Given the description of an element on the screen output the (x, y) to click on. 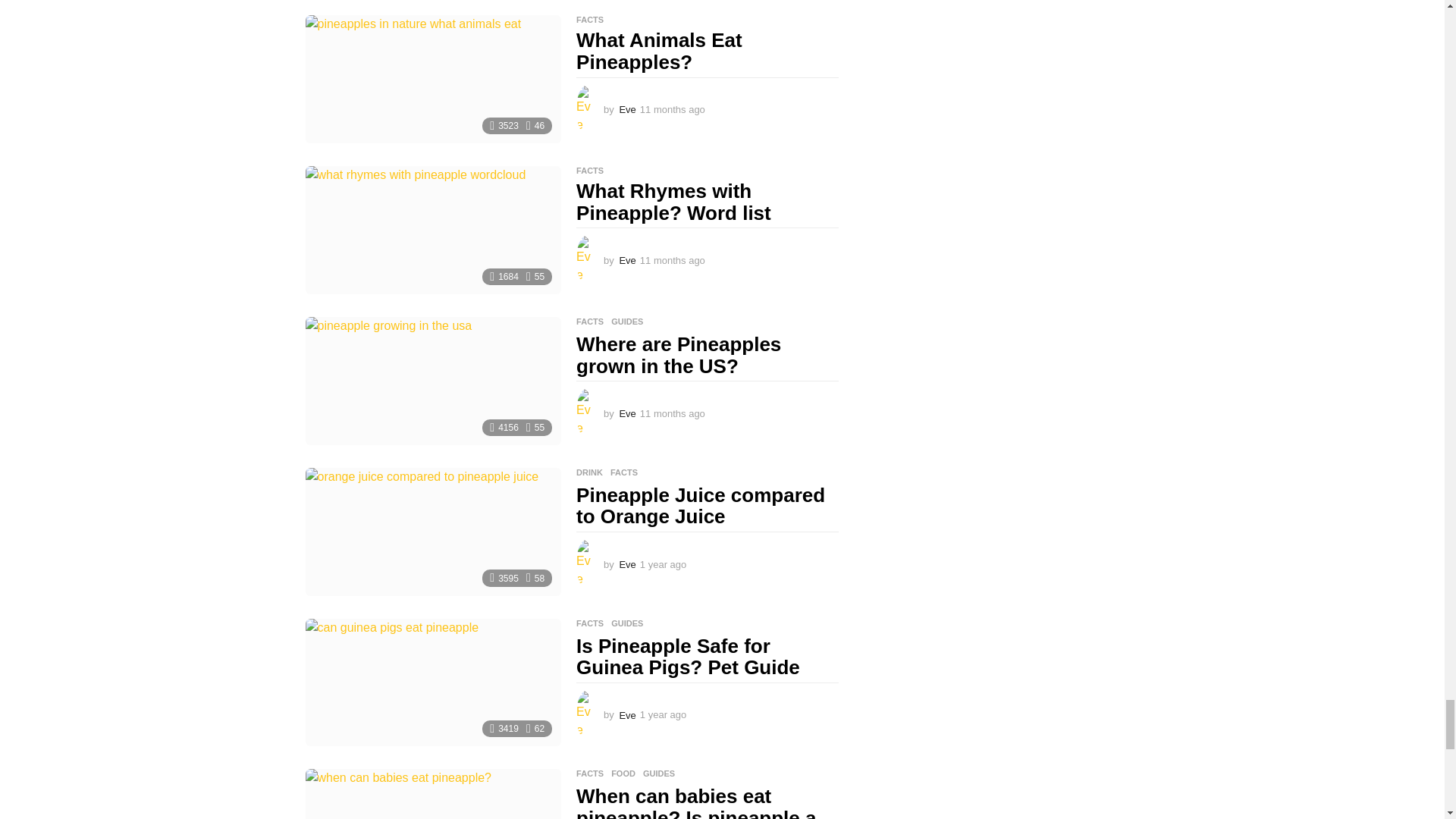
Pineapple Juice compared to Orange Juice (432, 531)
What Animals Eat Pineapples? (432, 79)
What Rhymes with Pineapple? Word list (432, 230)
Is Pineapple Safe for Guinea Pigs? Pet Guide (432, 682)
Where are Pineapples grown in the US? (432, 380)
